Given the description of an element on the screen output the (x, y) to click on. 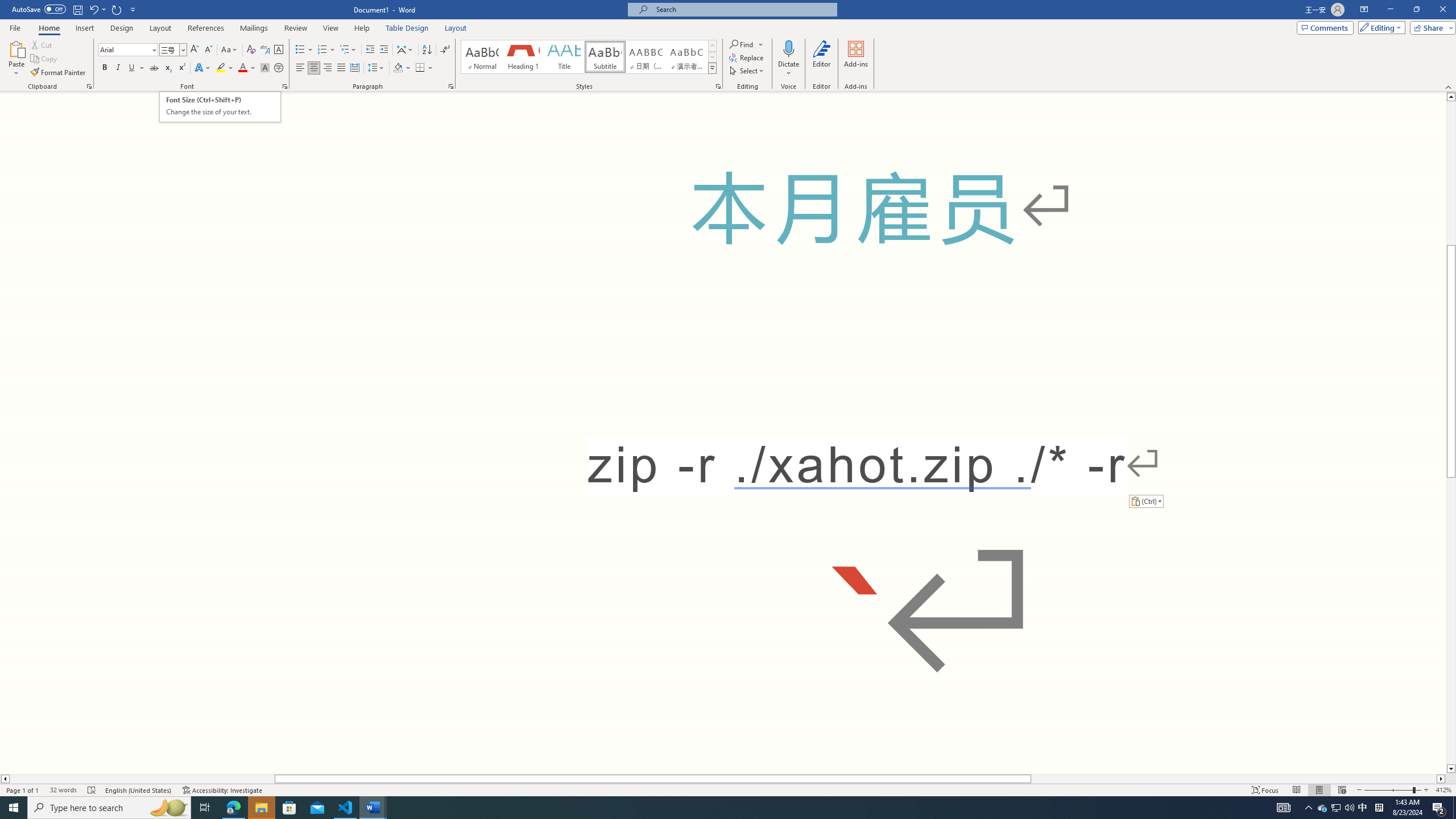
Page right (1233, 778)
